Given the description of an element on the screen output the (x, y) to click on. 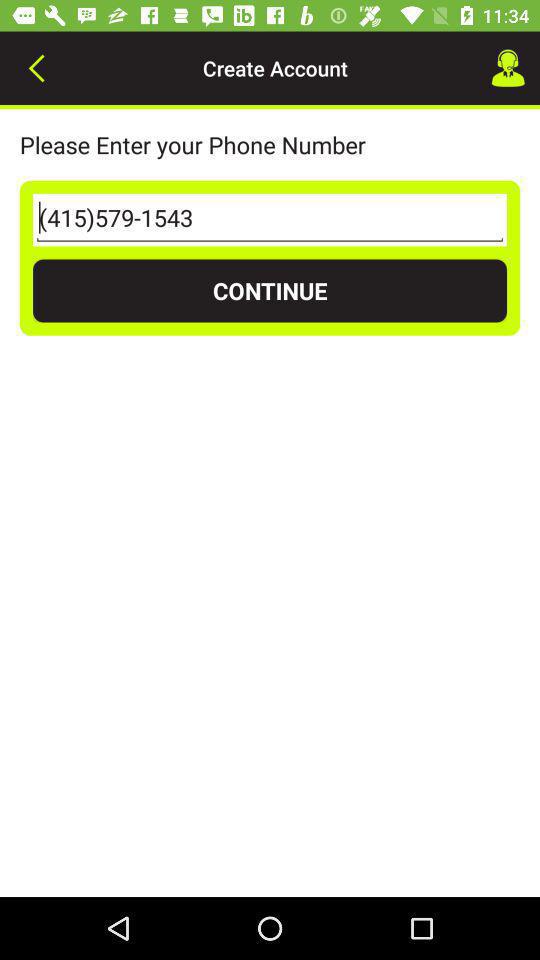
scroll until (415)579-1543 icon (270, 219)
